Given the description of an element on the screen output the (x, y) to click on. 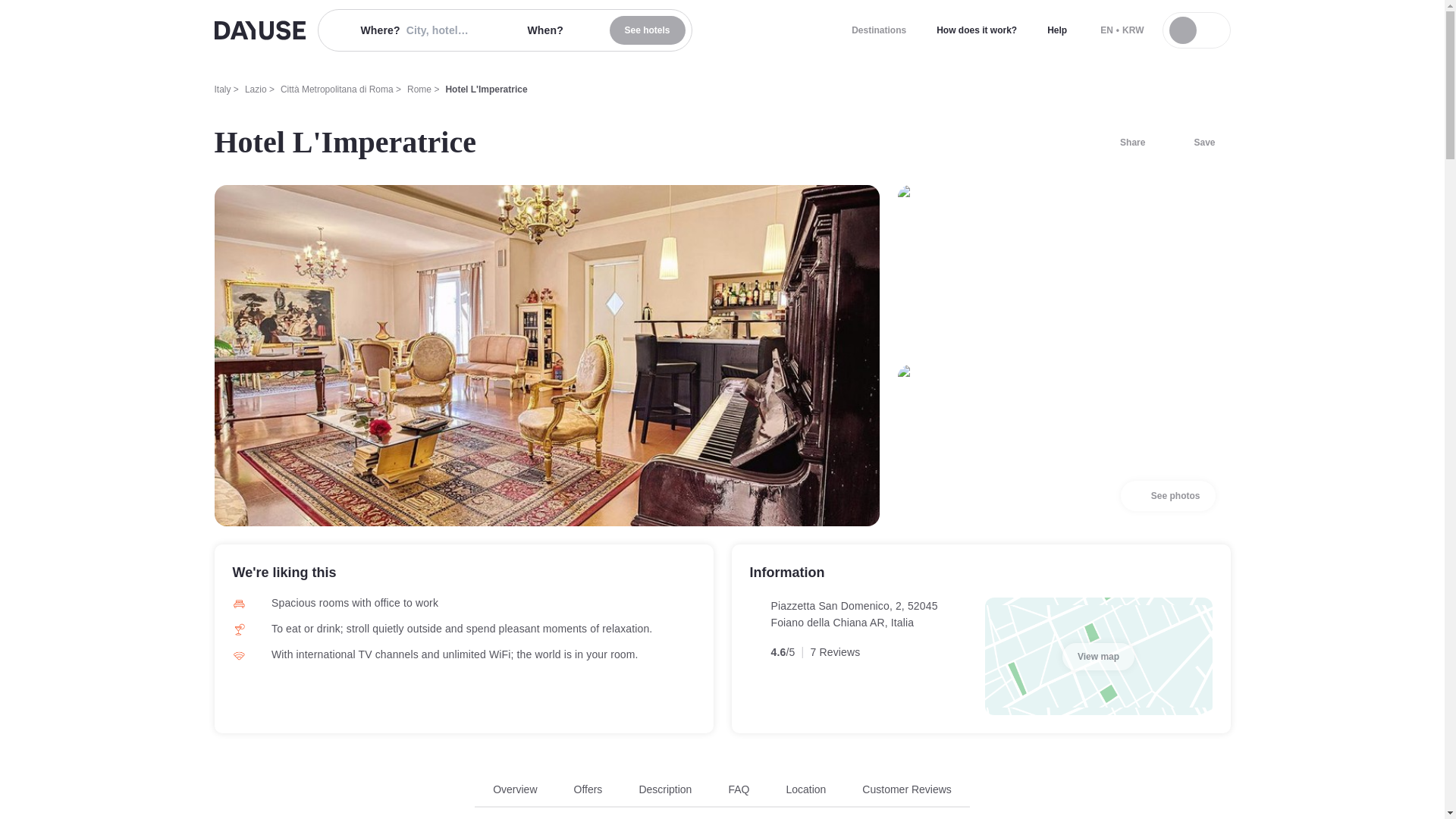
See photos (1168, 495)
View map (1098, 656)
Dayuse (259, 29)
Rome (418, 89)
Save (1195, 142)
Destinations (721, 794)
Location (878, 30)
Share (805, 789)
FAQ (1123, 142)
